Given the description of an element on the screen output the (x, y) to click on. 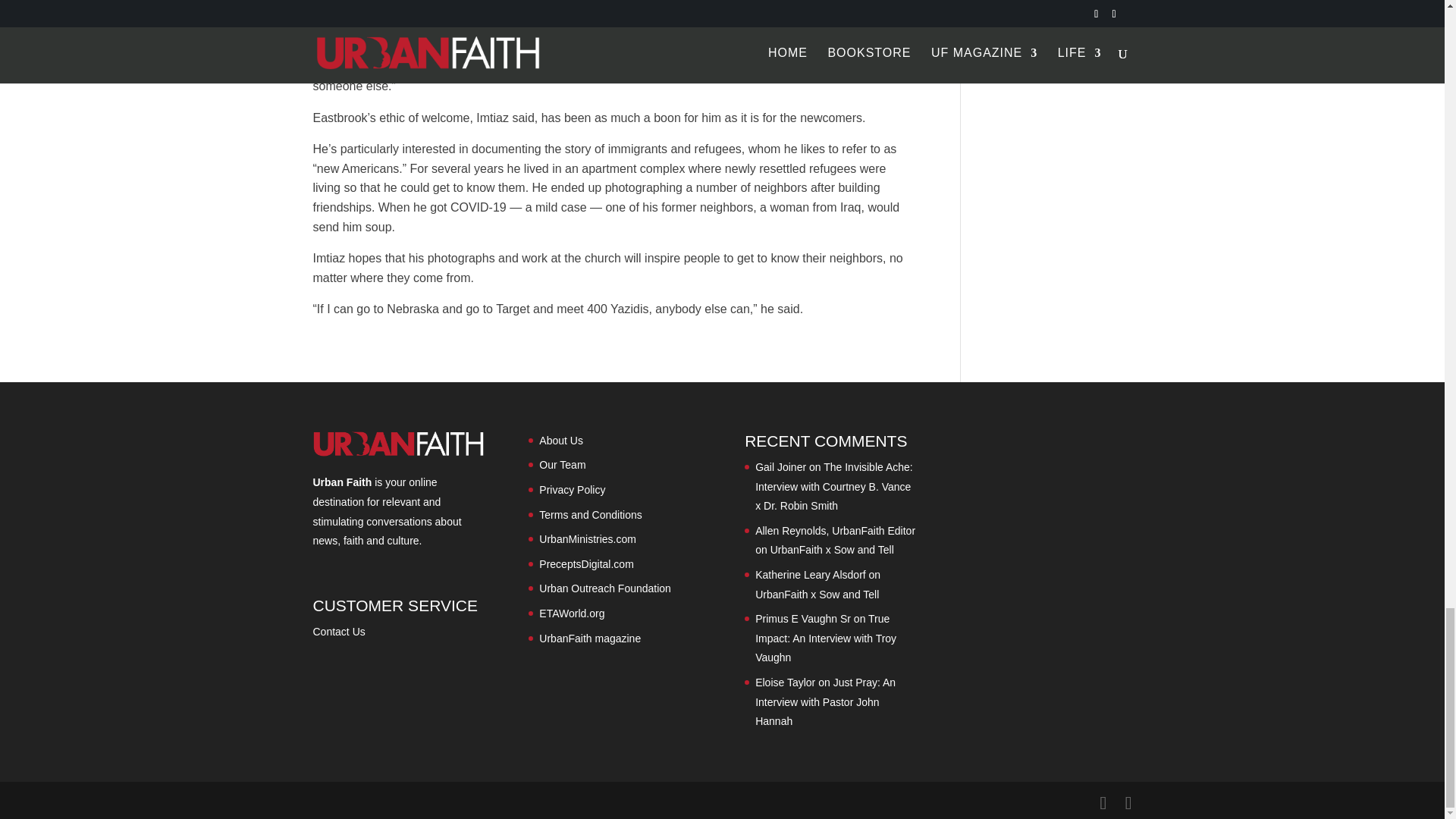
Contact Us (339, 631)
